Given the description of an element on the screen output the (x, y) to click on. 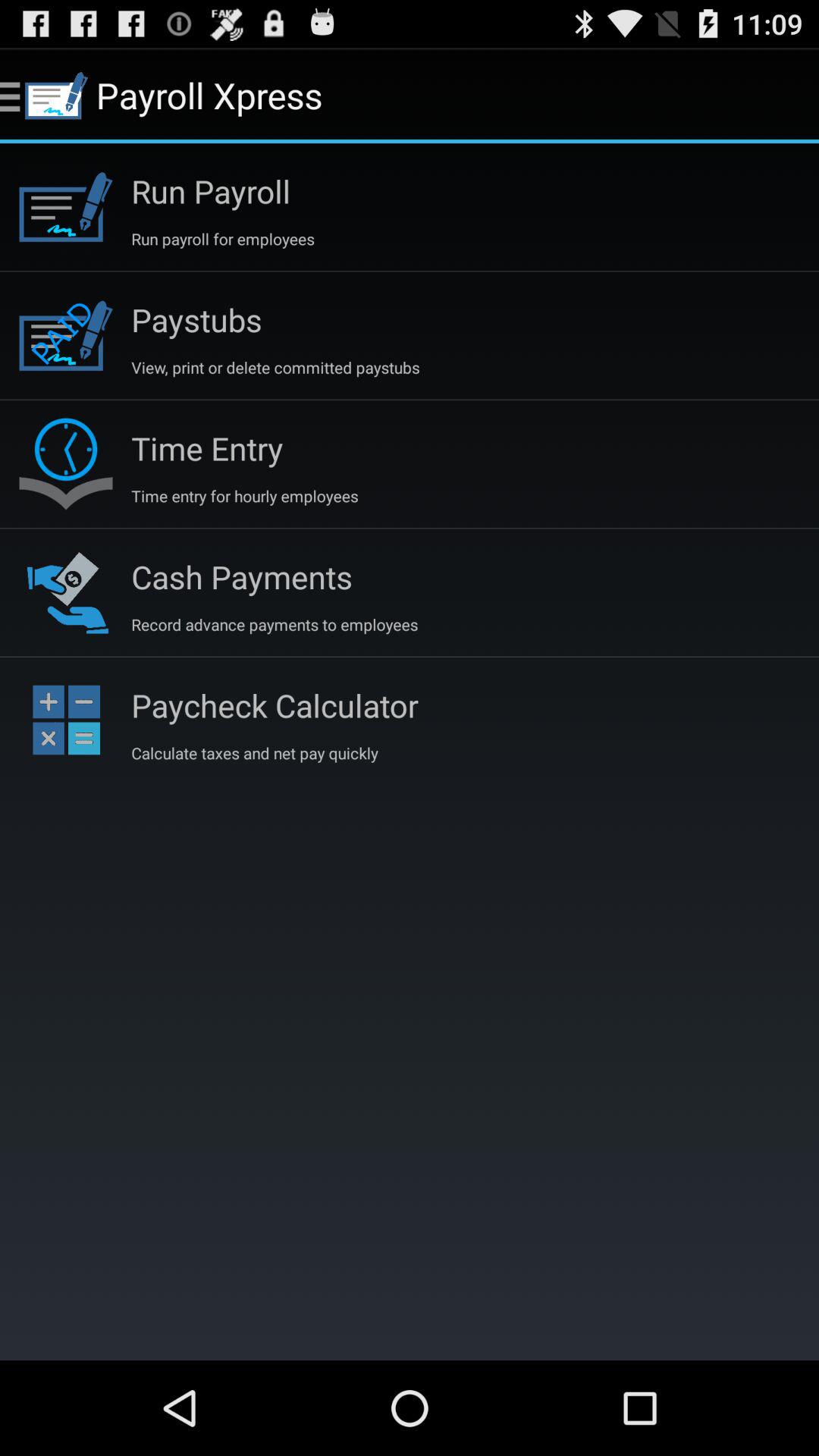
turn off calculate taxes and app (254, 752)
